Given the description of an element on the screen output the (x, y) to click on. 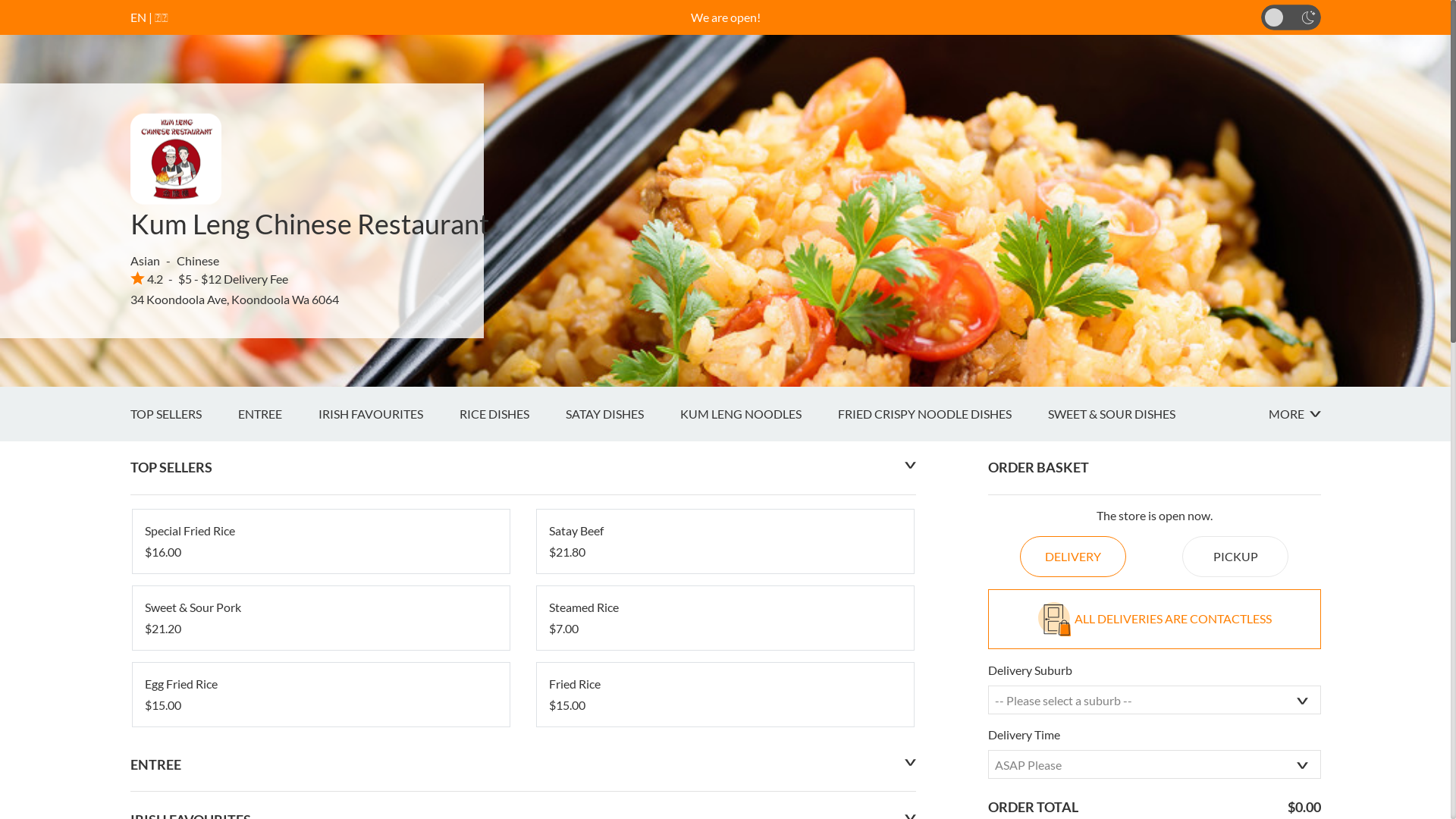
Sweet & Sour Pork
$21.20 Element type: text (320, 617)
KUM LENG NOODLES Element type: text (758, 413)
Steamed Rice
$7.00 Element type: text (725, 617)
Kum Leng Chinese Restaurant Element type: text (309, 223)
Steamed Rice
$7.00 Element type: text (725, 617)
Satay Beef
$21.80 Element type: text (725, 541)
Special Fried Rice
$16.00 Element type: text (320, 541)
PICKUP Element type: text (1235, 556)
4.2 Element type: text (146, 278)
FRIED CRISPY NOODLE DISHES Element type: text (942, 413)
Satay Beef
$21.80 Element type: text (725, 541)
EN Element type: text (138, 16)
RICE DISHES Element type: text (512, 413)
IRISH FAVOURITES Element type: text (388, 413)
SATAY DISHES Element type: text (622, 413)
Egg Fried Rice
$15.00 Element type: text (320, 694)
Fried Rice
$15.00 Element type: text (725, 694)
DELIVERY Element type: text (1072, 556)
Sweet & Sour Pork
$21.20 Element type: text (320, 617)
SWEET & SOUR DISHES Element type: text (1129, 413)
Fried Rice
$15.00 Element type: text (725, 694)
Egg Fried Rice
$15.00 Element type: text (320, 694)
TOP SELLERS Element type: text (184, 413)
MORE Element type: text (1293, 413)
Special Fried Rice
$16.00 Element type: text (320, 541)
ENTREE Element type: text (278, 413)
